Given the description of an element on the screen output the (x, y) to click on. 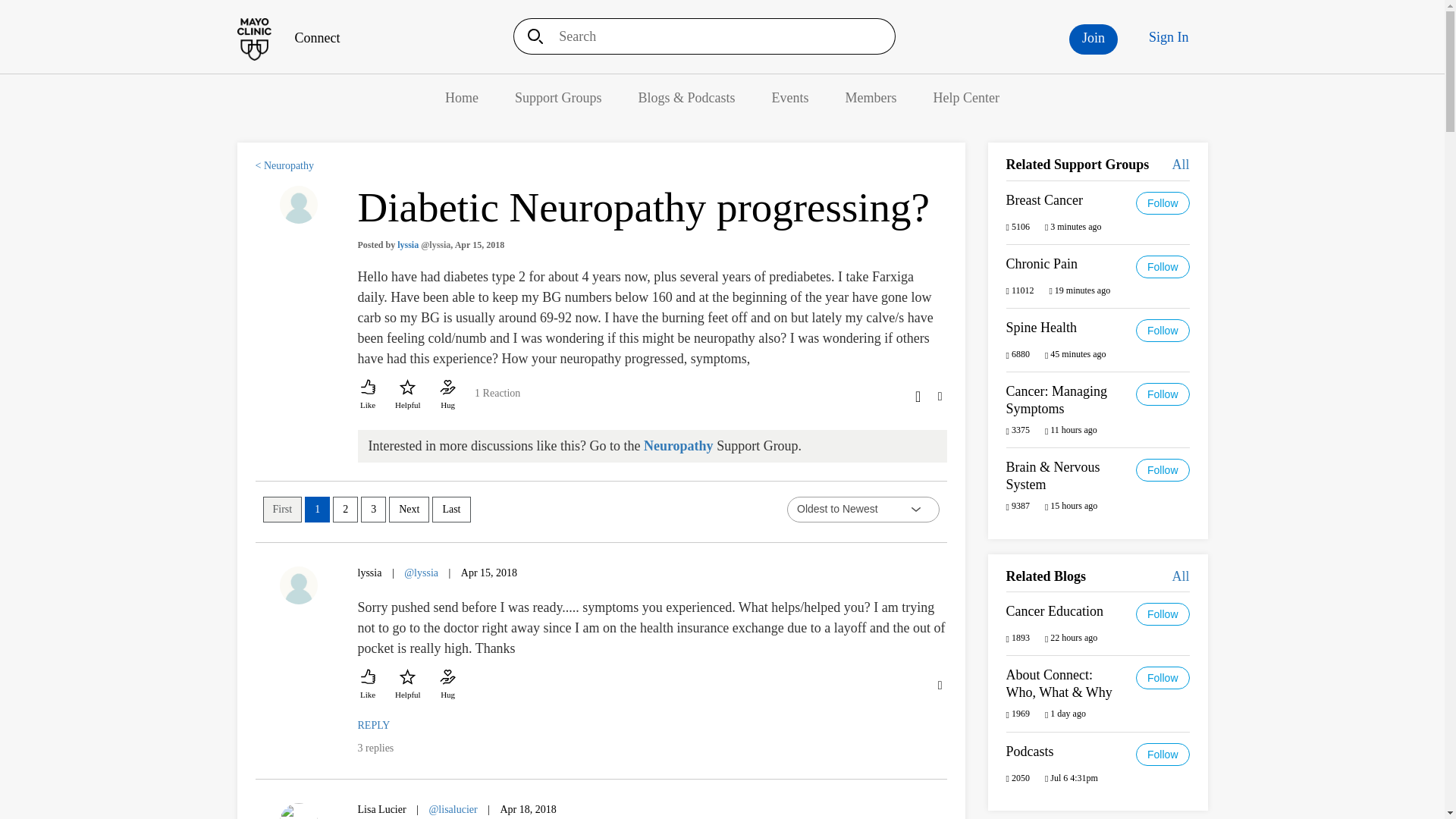
Neuropathy (678, 445)
Members (870, 97)
Members (870, 97)
Hug (448, 684)
See who reacted to this discussion (496, 398)
First (281, 509)
Like this comment to show appreciation for it. (368, 684)
Support Groups (558, 97)
1 Reaction (496, 398)
Home (462, 97)
Like (368, 684)
Like this discussion to show appreciation for it. (368, 394)
Send encouragement for this discussion. (448, 394)
Hug (448, 394)
Helpful: indicate that you found this comment helpful. (407, 684)
